Given the description of an element on the screen output the (x, y) to click on. 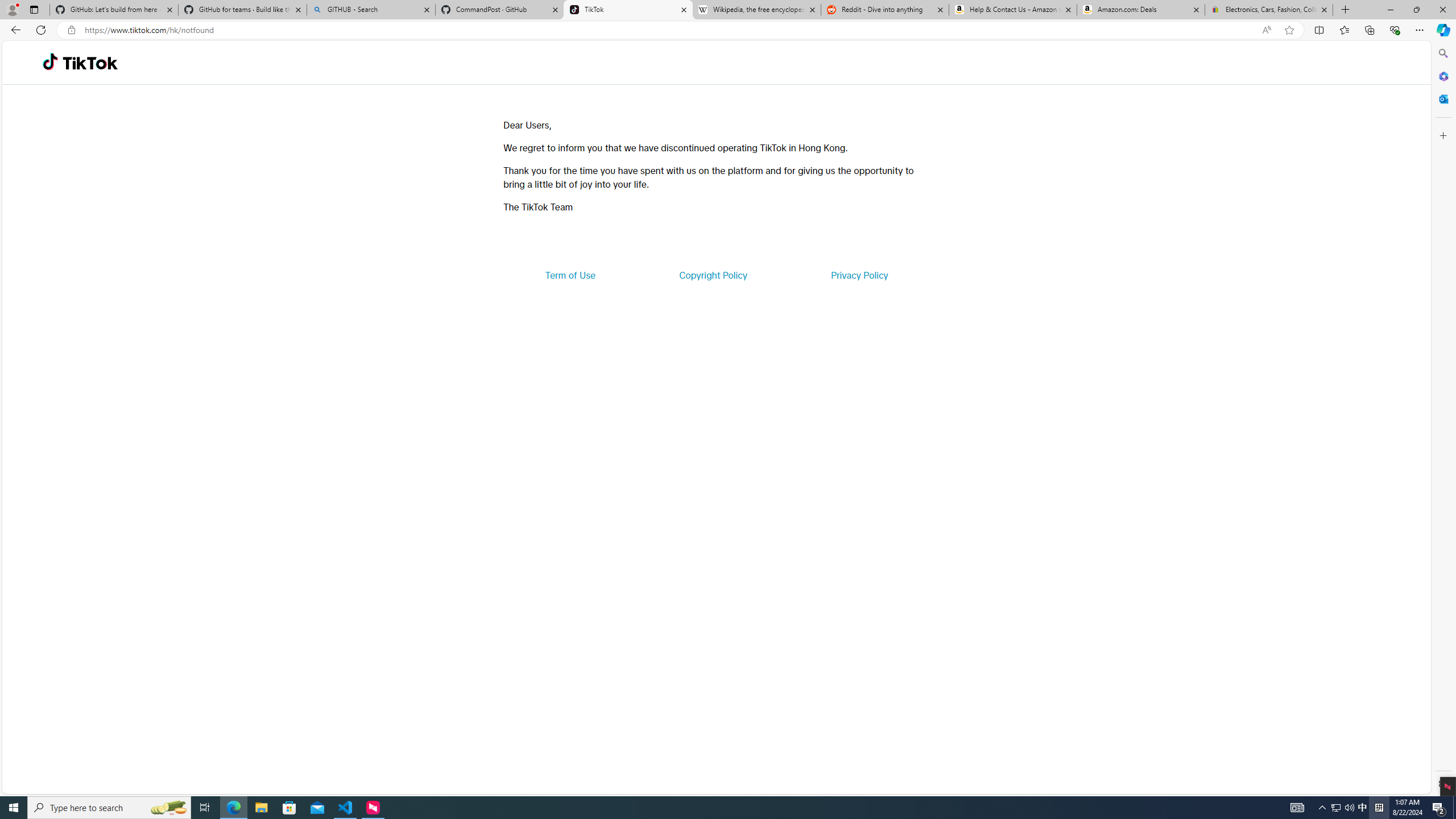
Amazon.com: Deals (1140, 9)
Wikipedia, the free encyclopedia (756, 9)
Copyright Policy (712, 274)
GITHUB - Search (370, 9)
TikTok (89, 62)
